Given the description of an element on the screen output the (x, y) to click on. 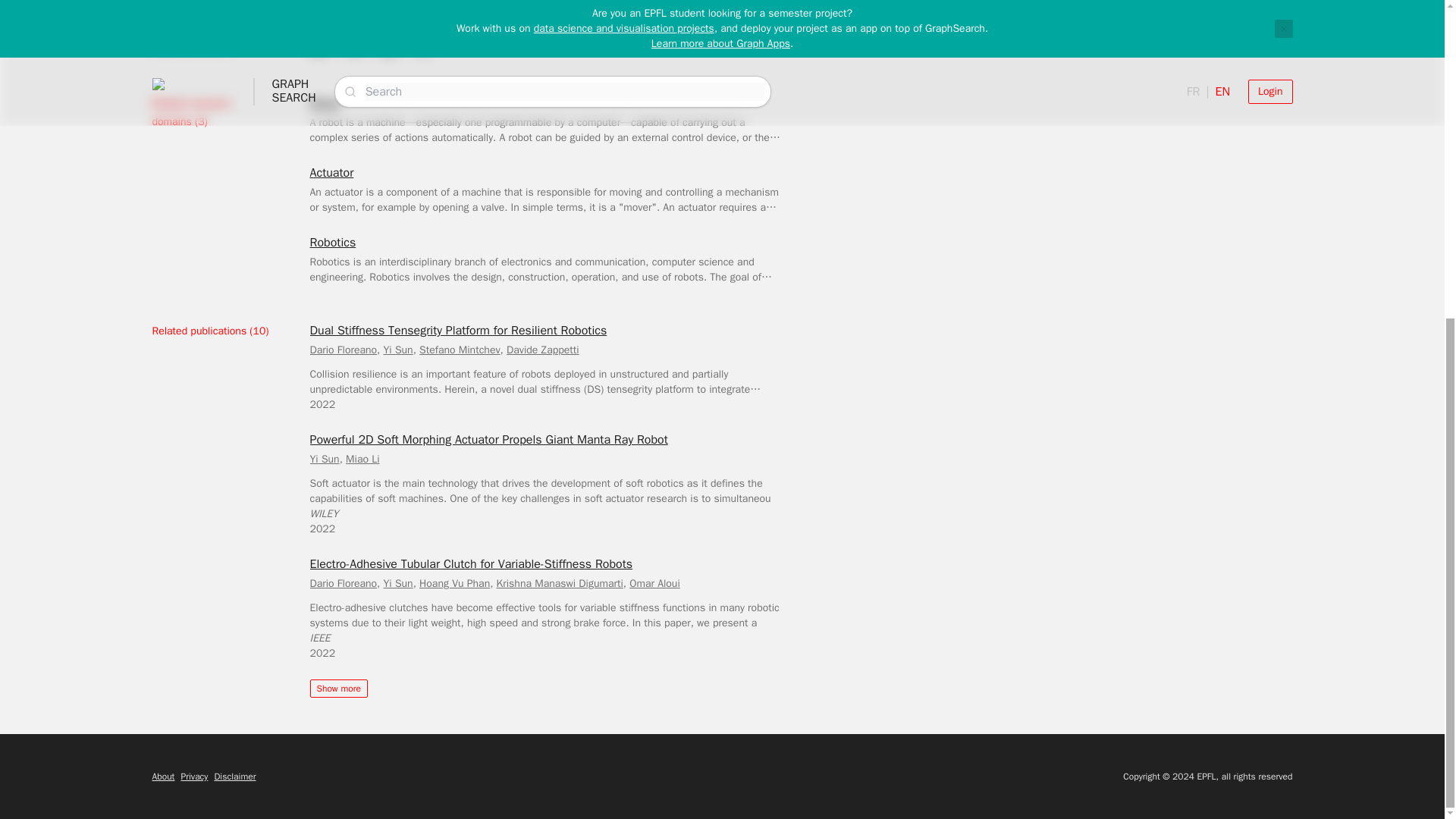
Robot (324, 103)
Reconfigurable robotics laboratory (387, 34)
Stefano Mintchev (459, 349)
Yi Sun (323, 459)
STI (355, 4)
STI (355, 51)
EPFL (318, 4)
Yi Sun (398, 349)
IGM (388, 51)
